Given the description of an element on the screen output the (x, y) to click on. 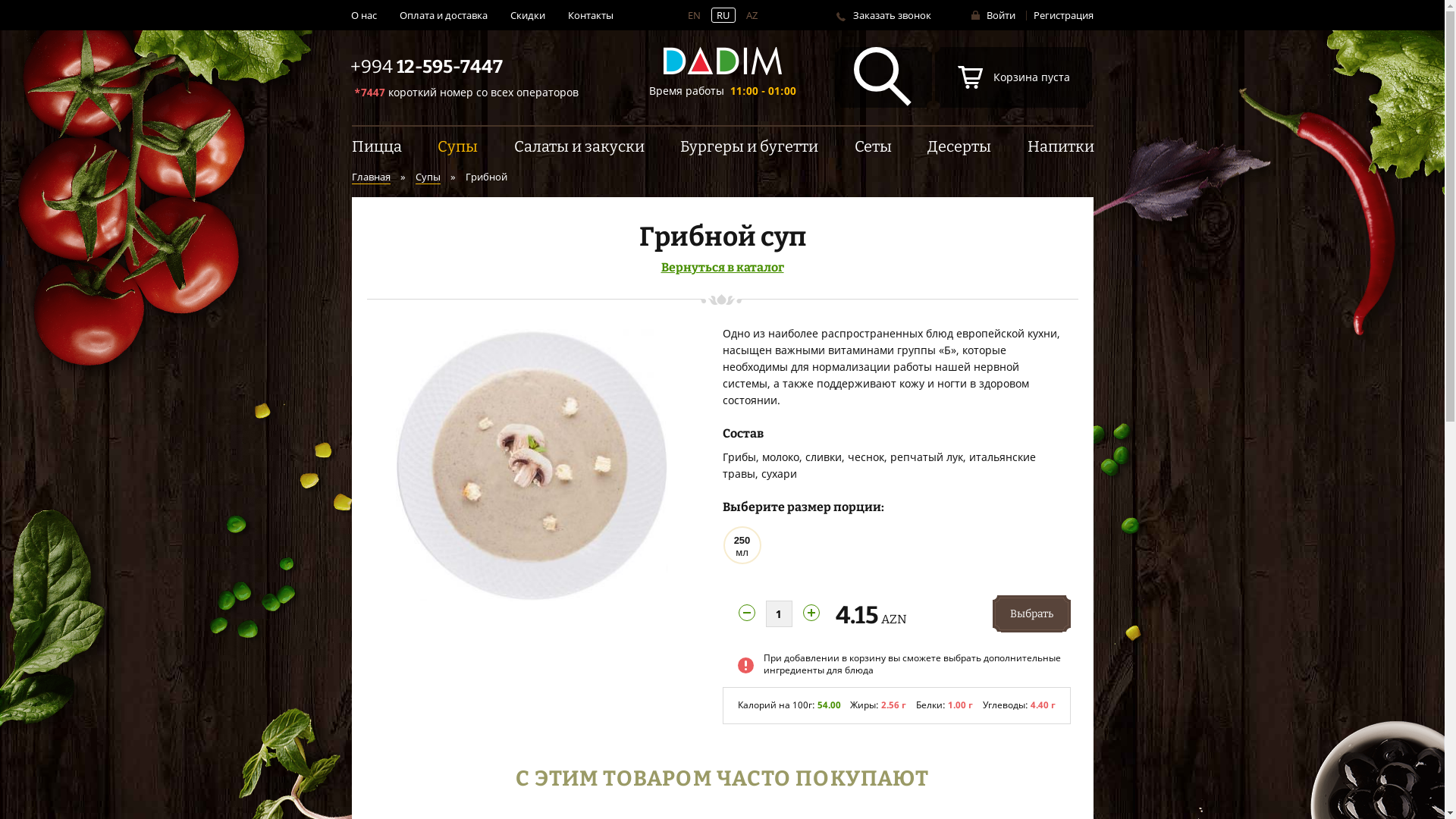
AZ Element type: text (751, 14)
EN Element type: text (693, 14)
+994 12-595-7447 Element type: text (426, 66)
